Given the description of an element on the screen output the (x, y) to click on. 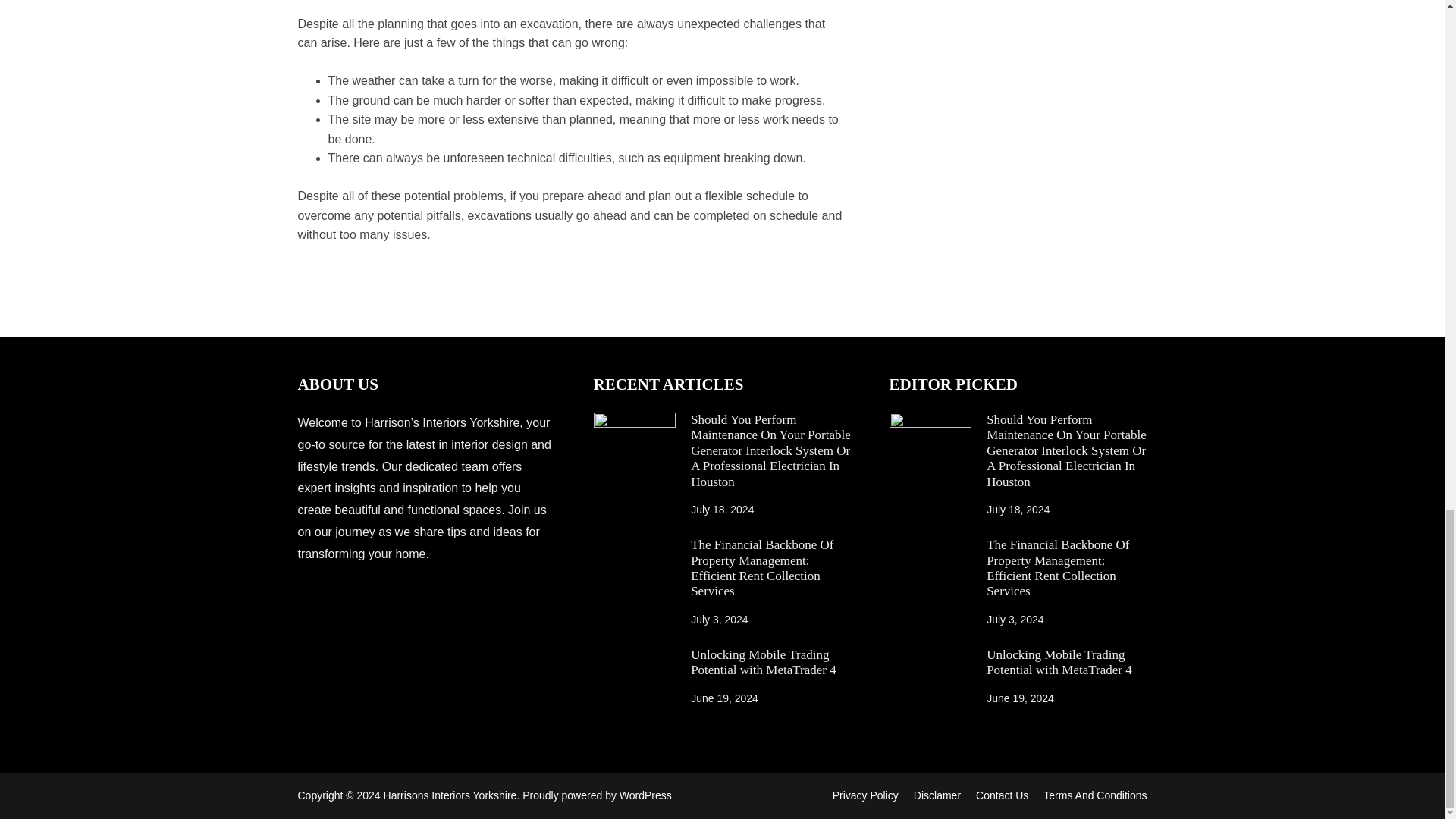
Harrisons Interiors Yorkshire (450, 795)
